Given the description of an element on the screen output the (x, y) to click on. 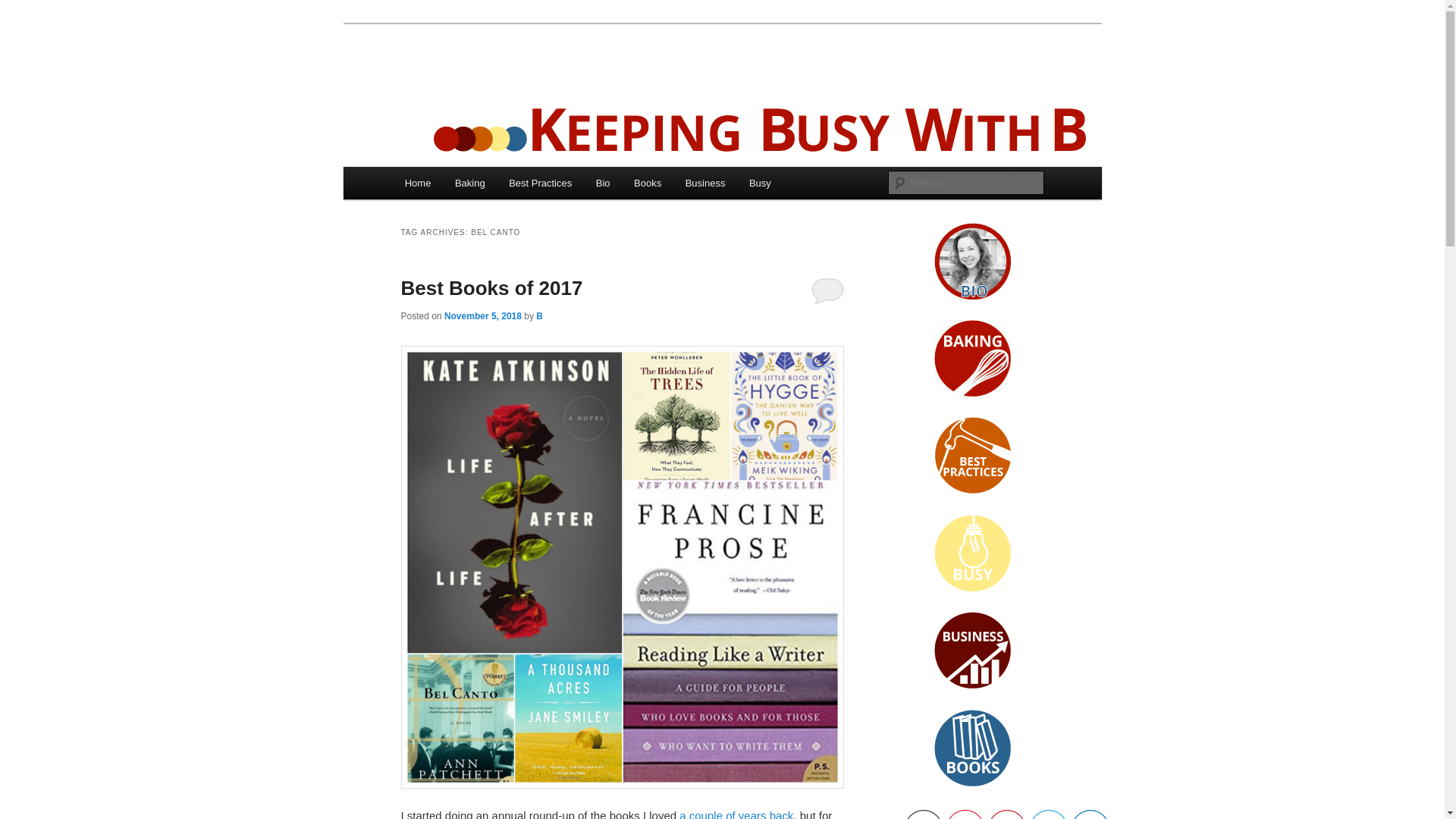
Home (417, 183)
Busy (759, 183)
Best Practices (539, 183)
Bio (602, 183)
KBwB-BRAND WORK (972, 261)
November 5, 2018 (482, 316)
Pinterest (1006, 814)
KBwB-Button-3BestP-100 (972, 455)
KBwB-Button-1Baking-100 (972, 358)
